Given the description of an element on the screen output the (x, y) to click on. 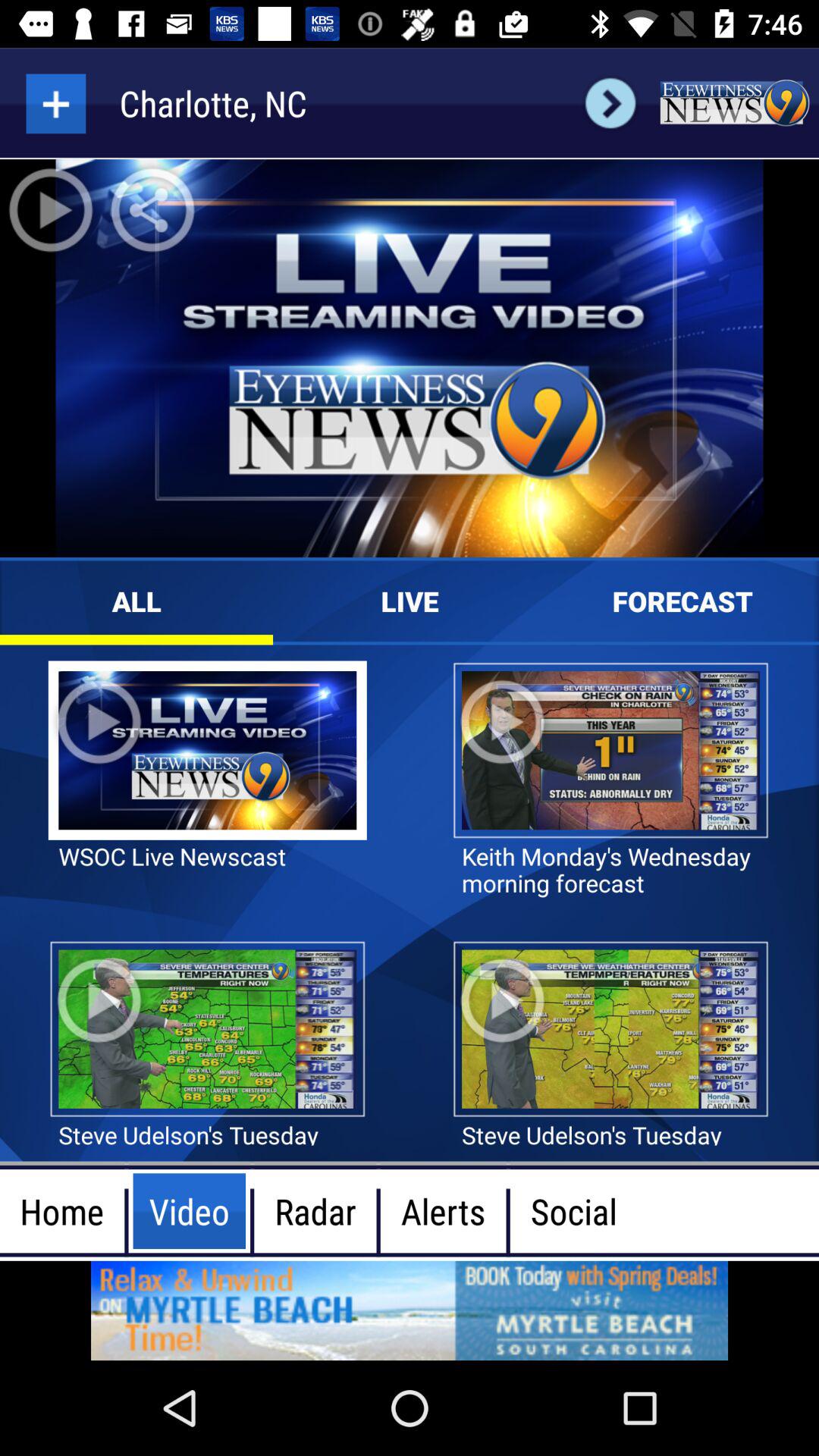
news (734, 103)
